Given the description of an element on the screen output the (x, y) to click on. 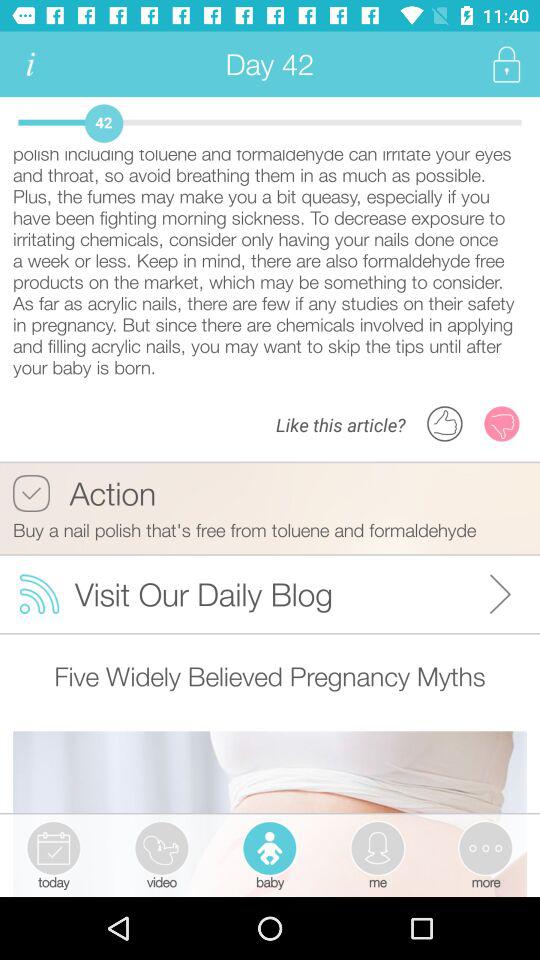
see more info (30, 63)
